Given the description of an element on the screen output the (x, y) to click on. 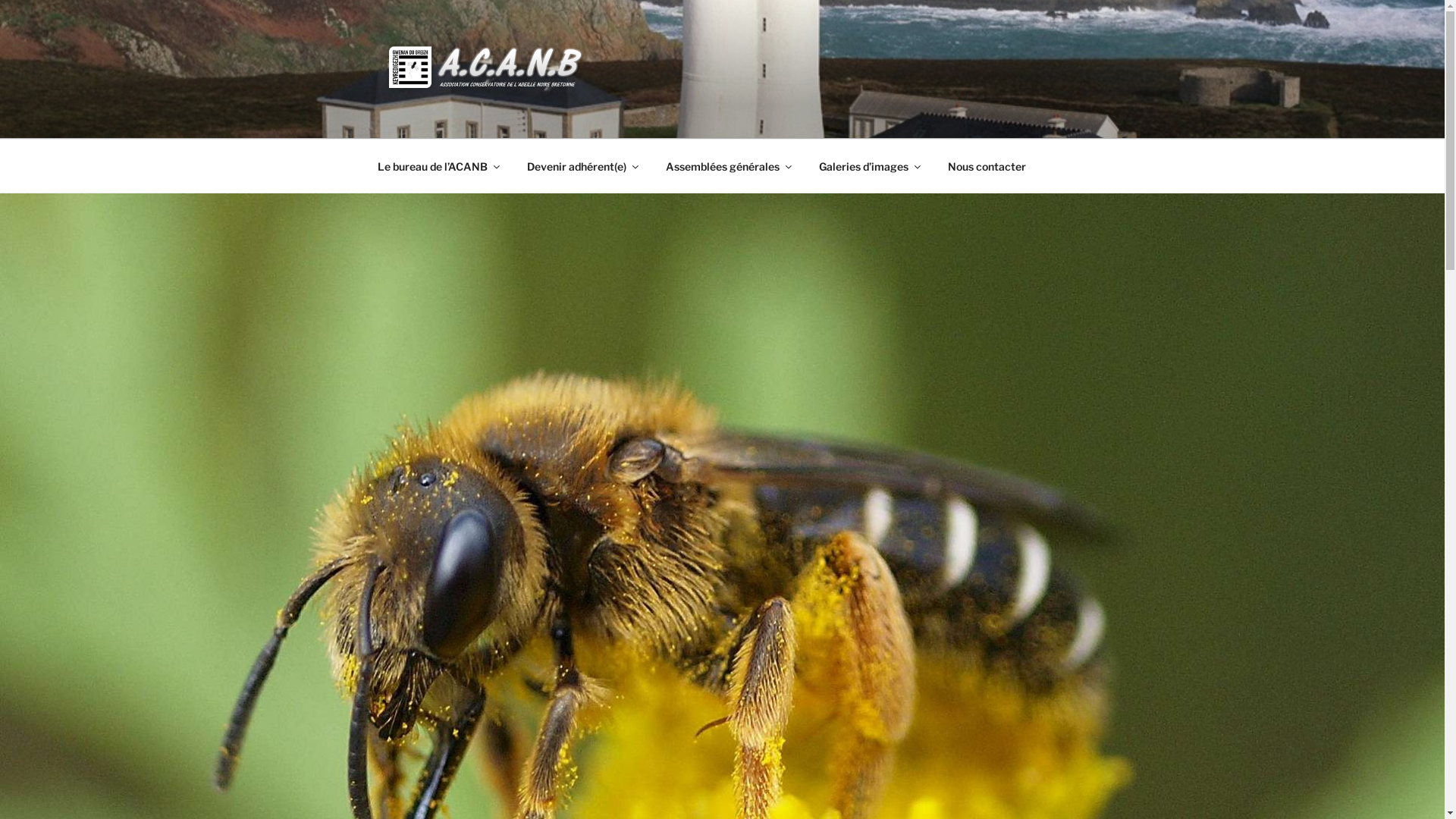
Nous contacter Element type: text (986, 165)
ACANB Element type: text (434, 118)
